Given the description of an element on the screen output the (x, y) to click on. 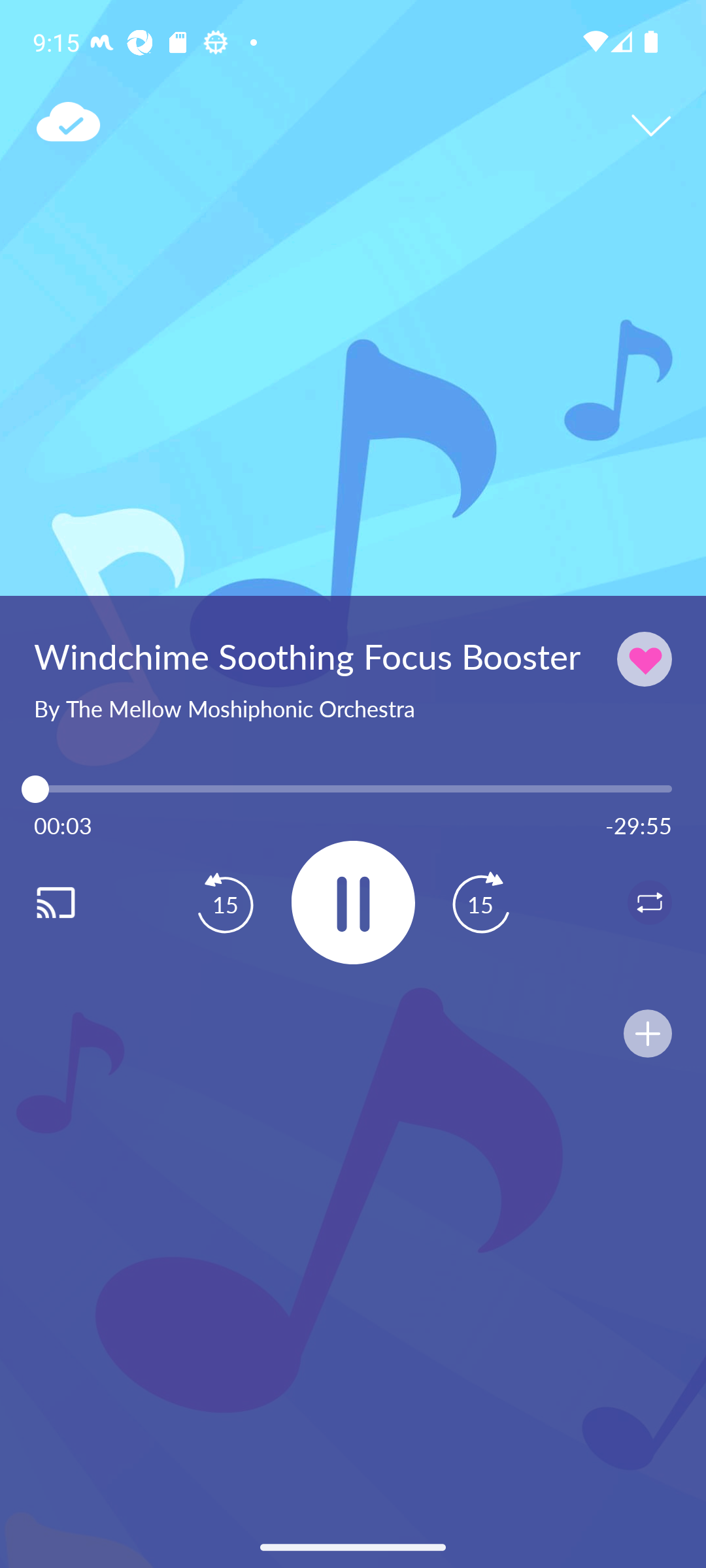
3.0 (352, 789)
Cast. Disconnected (76, 902)
